Given the description of an element on the screen output the (x, y) to click on. 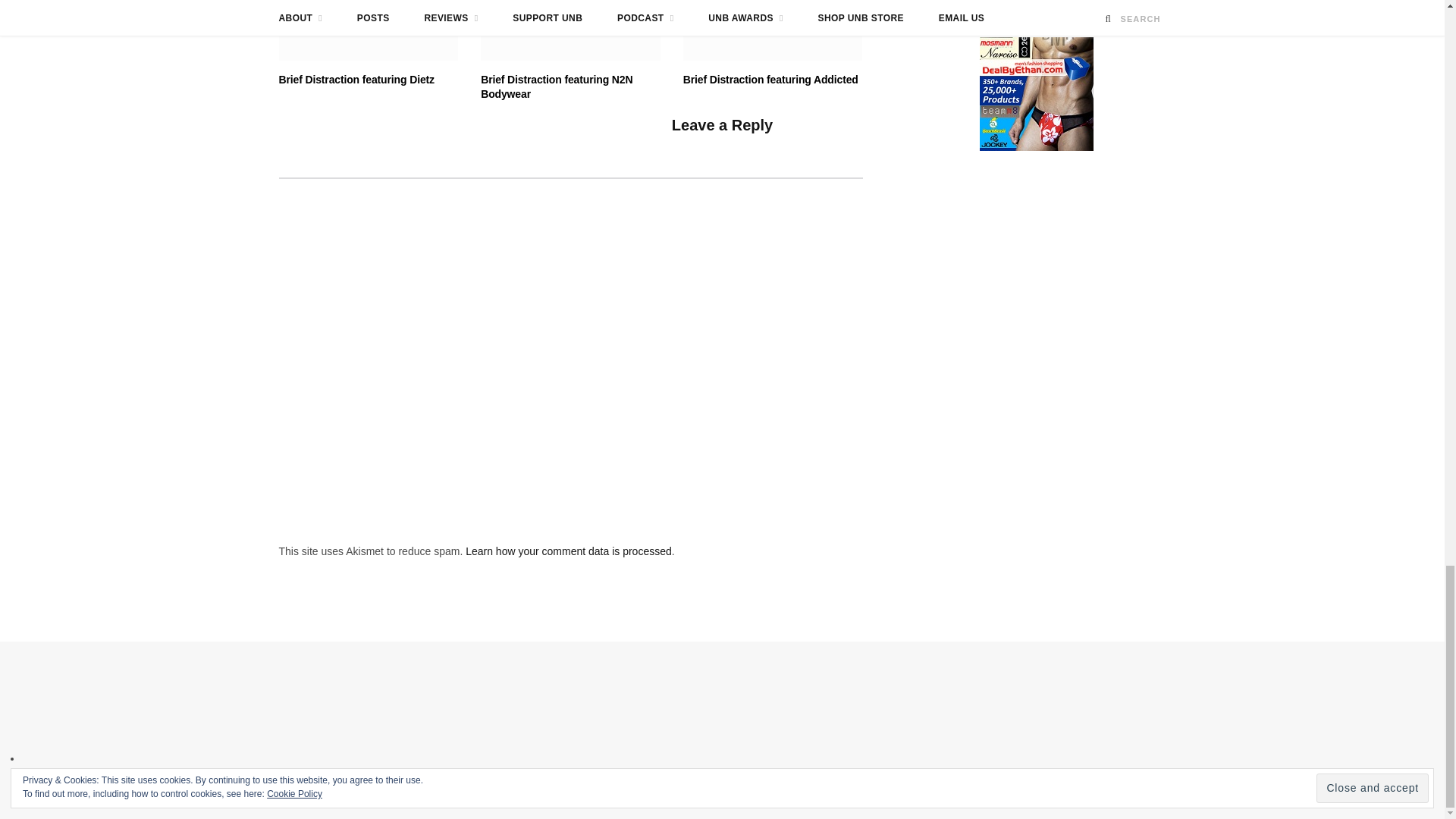
Brief Distraction featuring Addicted (772, 30)
Brief Distraction featuring Dietz (368, 30)
Brief Distraction featuring N2N Bodywear (570, 30)
